Given the description of an element on the screen output the (x, y) to click on. 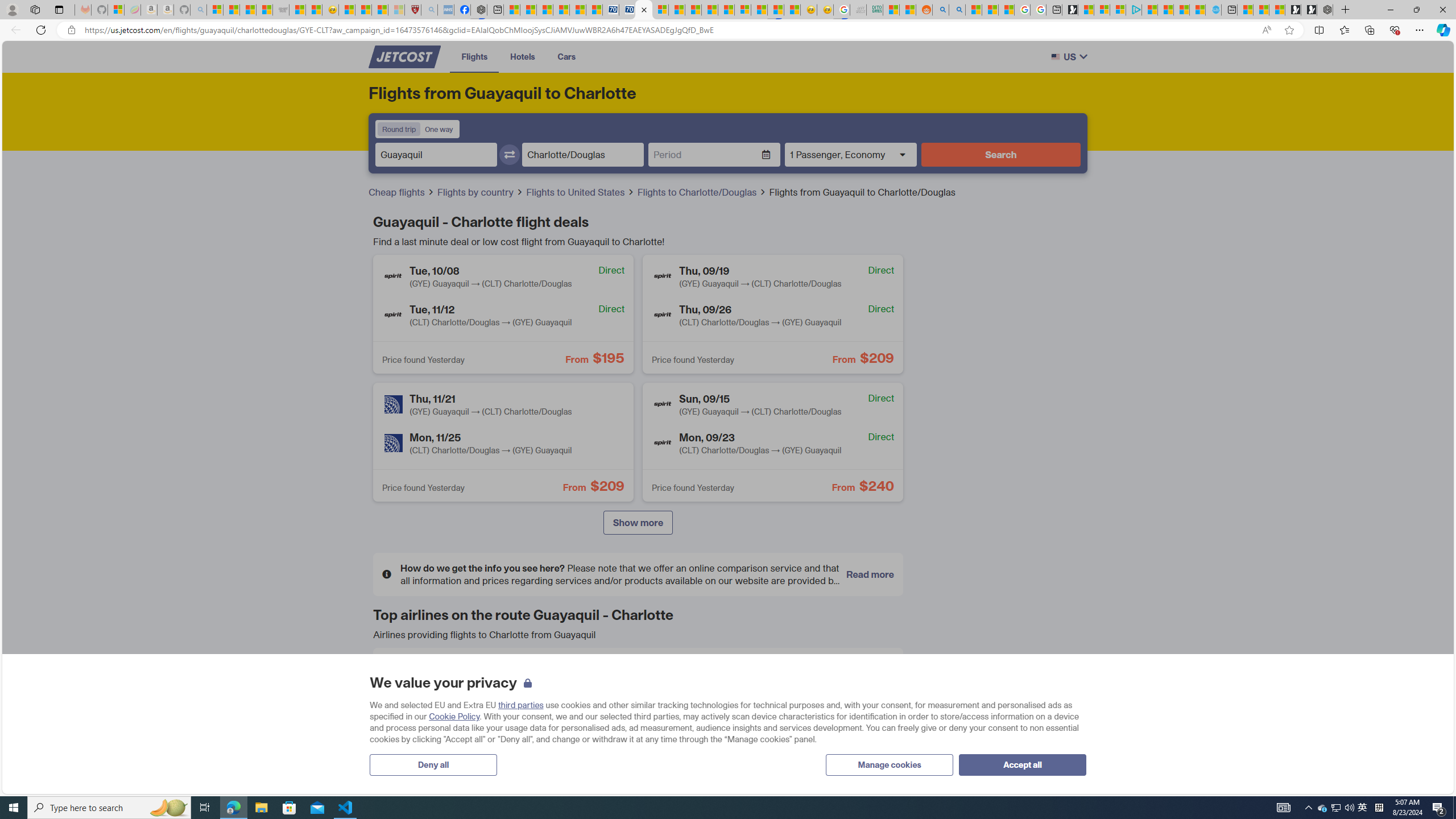
LATAM (572, 715)
